Given the description of an element on the screen output the (x, y) to click on. 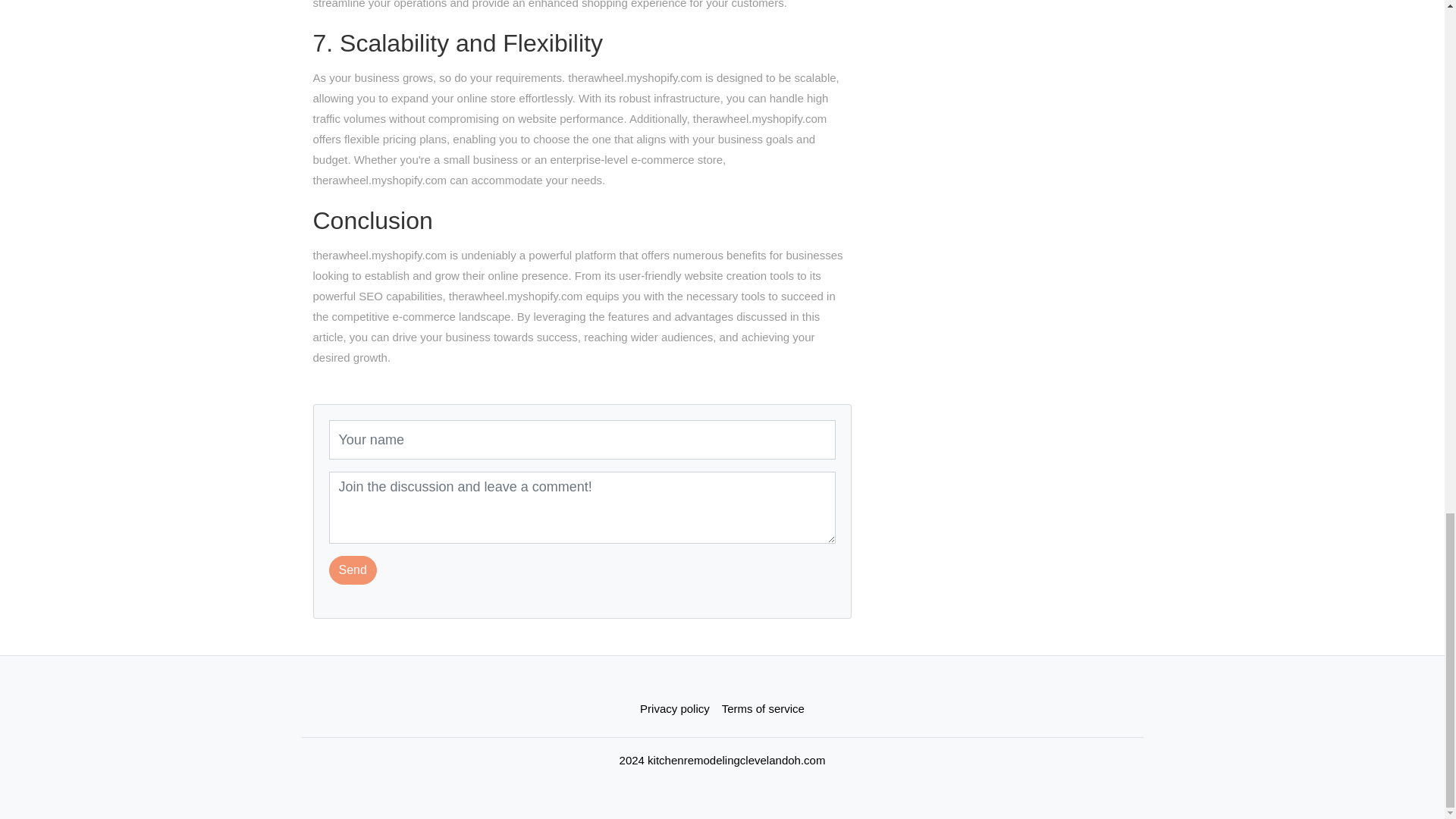
Privacy policy (674, 708)
Send (353, 570)
Terms of service (763, 708)
Send (353, 570)
